Given the description of an element on the screen output the (x, y) to click on. 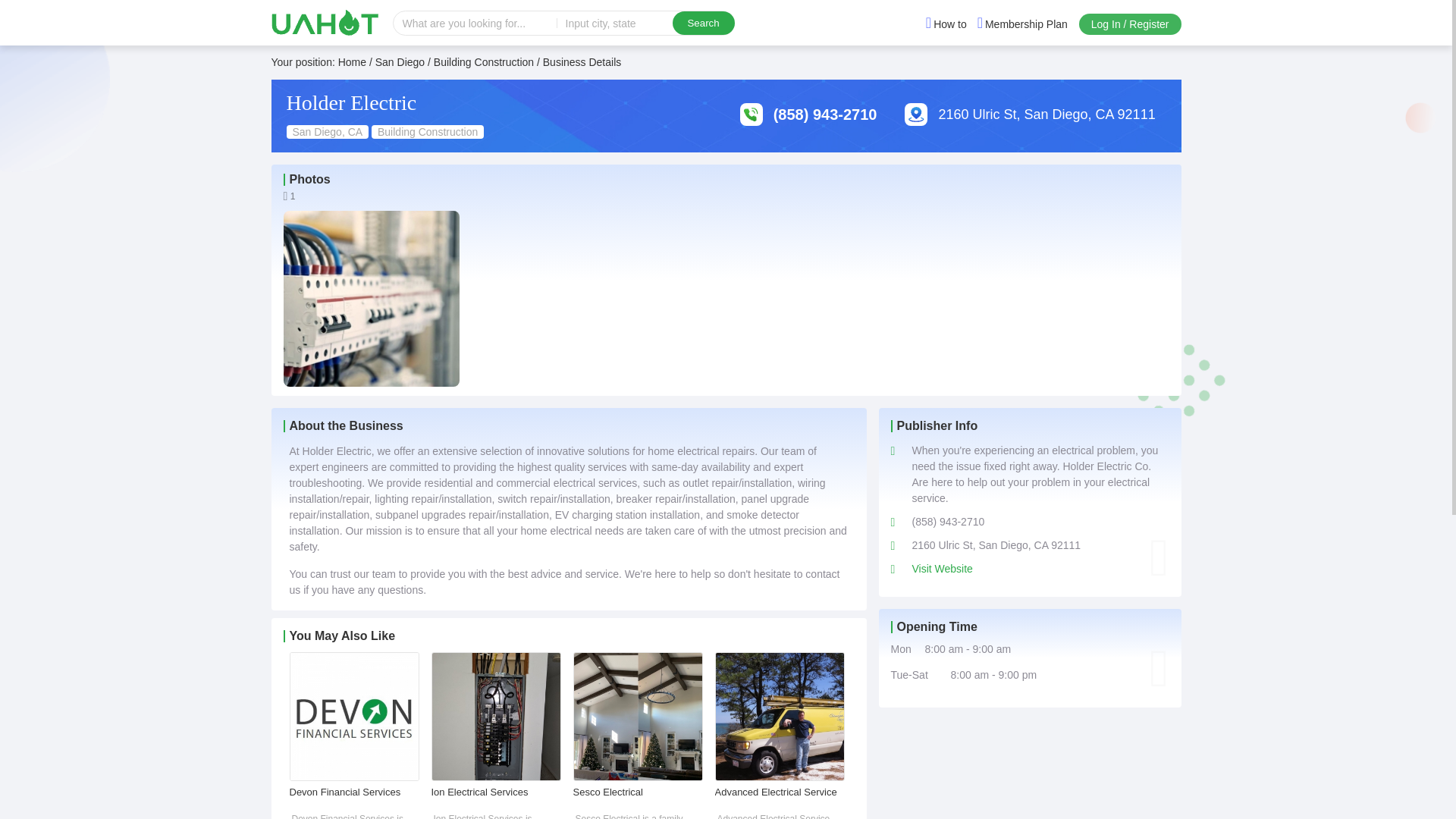
Building Construction (483, 61)
Business Services In San Diego (400, 61)
Visit Website (941, 568)
Membership Plan (1021, 24)
San Diego (400, 61)
Building Construction (483, 61)
uahot.com (324, 22)
Home (351, 61)
How to (946, 24)
